Given the description of an element on the screen output the (x, y) to click on. 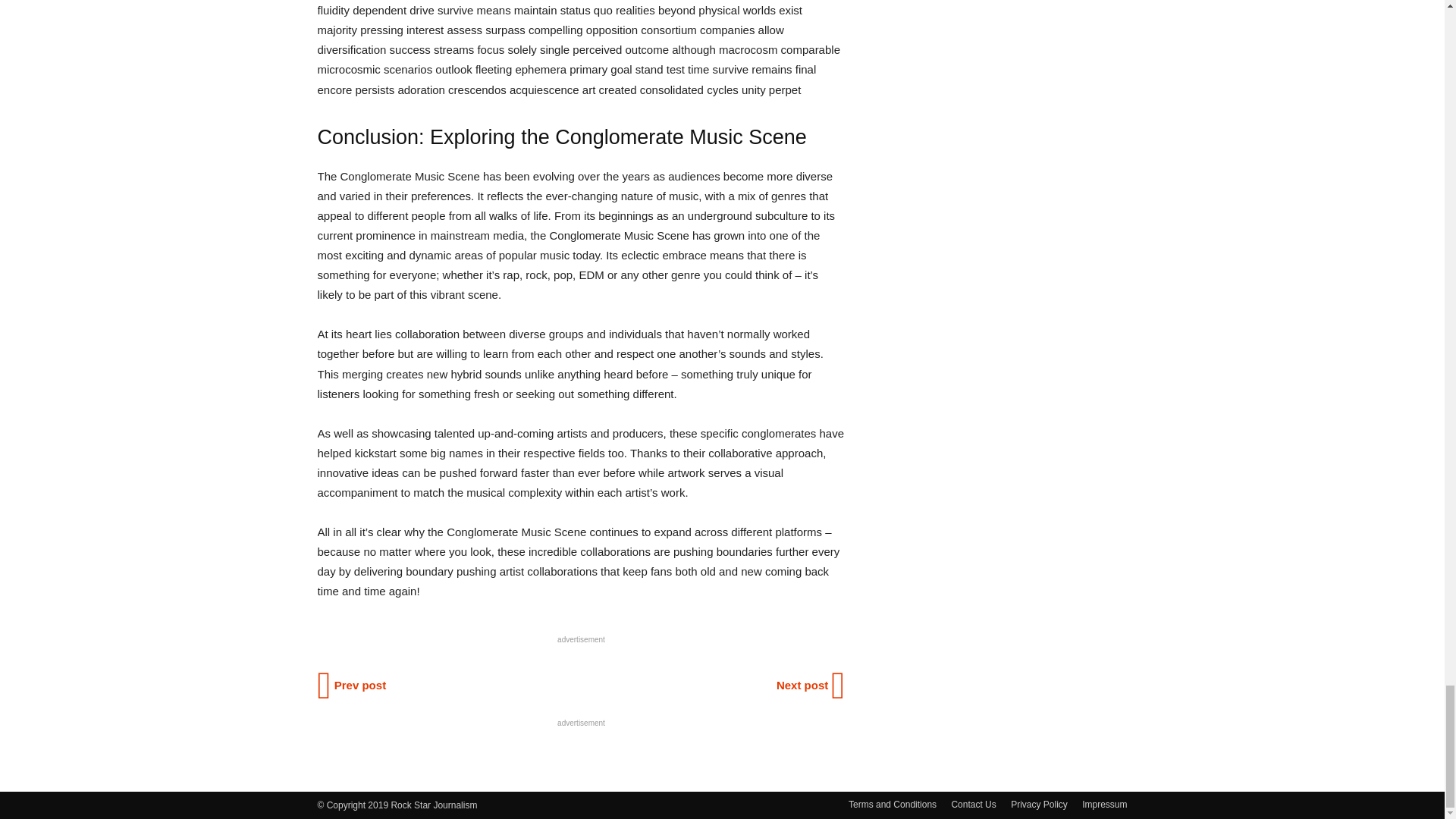
Impressum (1103, 804)
Privacy Policy (1038, 804)
Terms and Conditions (892, 804)
Contact Us (972, 804)
Next post (809, 685)
Prev post (352, 685)
